Given the description of an element on the screen output the (x, y) to click on. 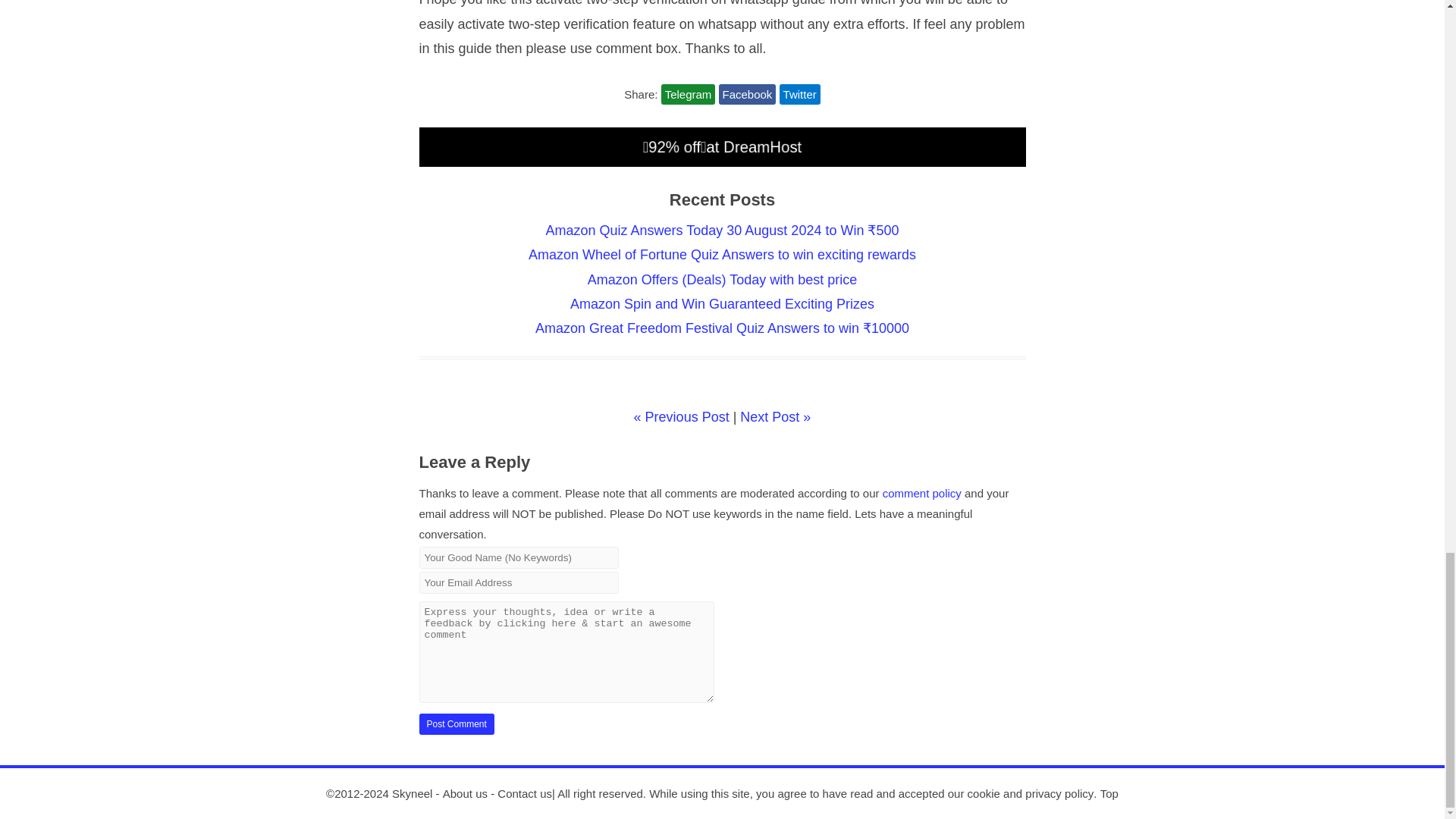
Facebook (747, 93)
Tweet on Twitter (799, 93)
comment policy (921, 492)
Twitter (799, 93)
Post Comment (456, 723)
Amazon Wheel of Fortune Quiz Answers to win exciting rewards (721, 254)
Skyneel (411, 793)
Telegram (688, 93)
cookie and privacy policy (1031, 793)
Post Comment (456, 723)
